Given the description of an element on the screen output the (x, y) to click on. 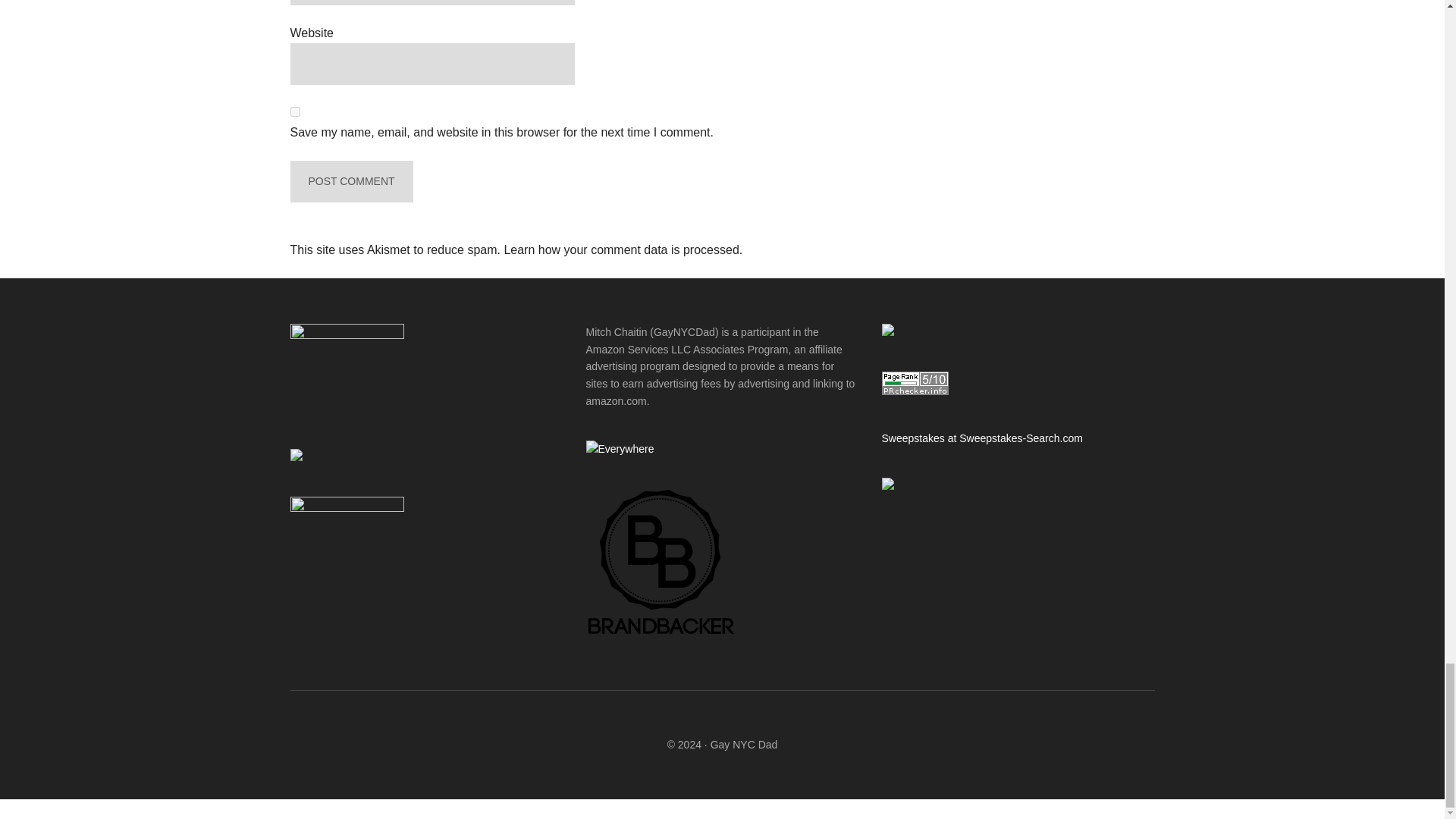
yes (294, 112)
BrandBacker Member (660, 635)
Post Comment (350, 181)
